Given the description of an element on the screen output the (x, y) to click on. 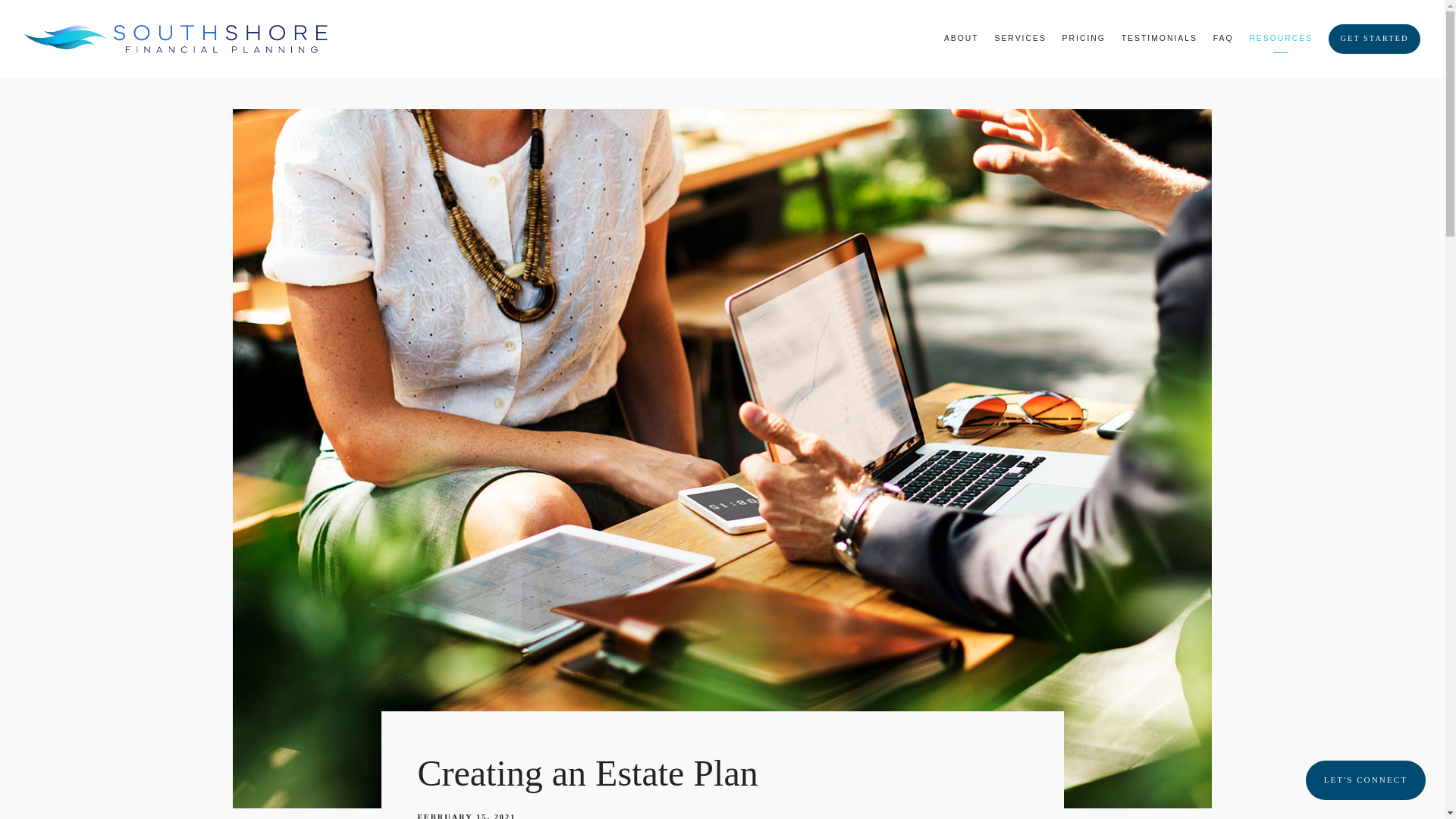
LET'S CONNECT (1365, 780)
FAQ (1222, 38)
ABOUT (960, 38)
PRICING (1083, 38)
GET STARTED (1374, 39)
SERVICES (1019, 38)
RESOURCES (1281, 38)
TESTIMONIALS (1158, 38)
